Given the description of an element on the screen output the (x, y) to click on. 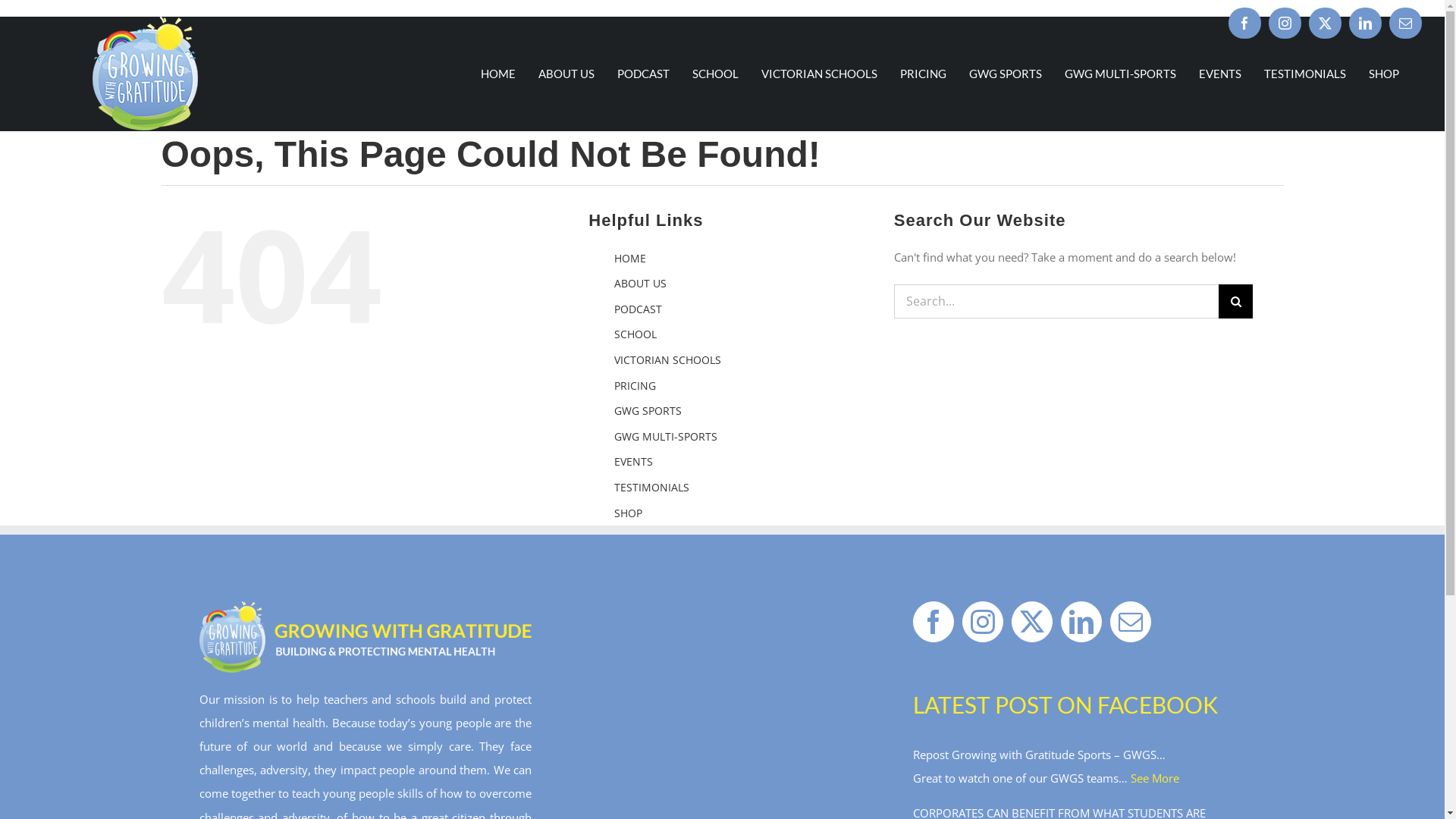
GWG SPORTS Element type: text (647, 410)
Instagram Element type: text (1284, 22)
SHOP Element type: text (1383, 73)
ABOUT US Element type: text (566, 73)
HOME Element type: text (630, 258)
PRICING Element type: text (634, 385)
TESTIMONIALS Element type: text (1305, 73)
SHOP Element type: text (628, 512)
Twitter Element type: text (1324, 22)
ABOUT US Element type: text (640, 283)
GWG MULTI-SPORTS Element type: text (665, 436)
EVENTS Element type: text (633, 461)
See More Element type: text (1154, 777)
VICTORIAN SCHOOLS Element type: text (819, 73)
PRICING Element type: text (923, 73)
Email Element type: text (1405, 22)
PODCAST Element type: text (643, 73)
VICTORIAN SCHOOLS Element type: text (667, 359)
GWG MULTI-SPORTS Element type: text (1120, 73)
SCHOOL Element type: text (635, 333)
LinkedIn Element type: text (1365, 22)
GWG SPORTS Element type: text (1005, 73)
Facebook Element type: text (1244, 22)
TESTIMONIALS Element type: text (651, 487)
EVENTS Element type: text (1219, 73)
SCHOOL Element type: text (715, 73)
PODCAST Element type: text (638, 308)
HOME Element type: text (497, 73)
